Given the description of an element on the screen output the (x, y) to click on. 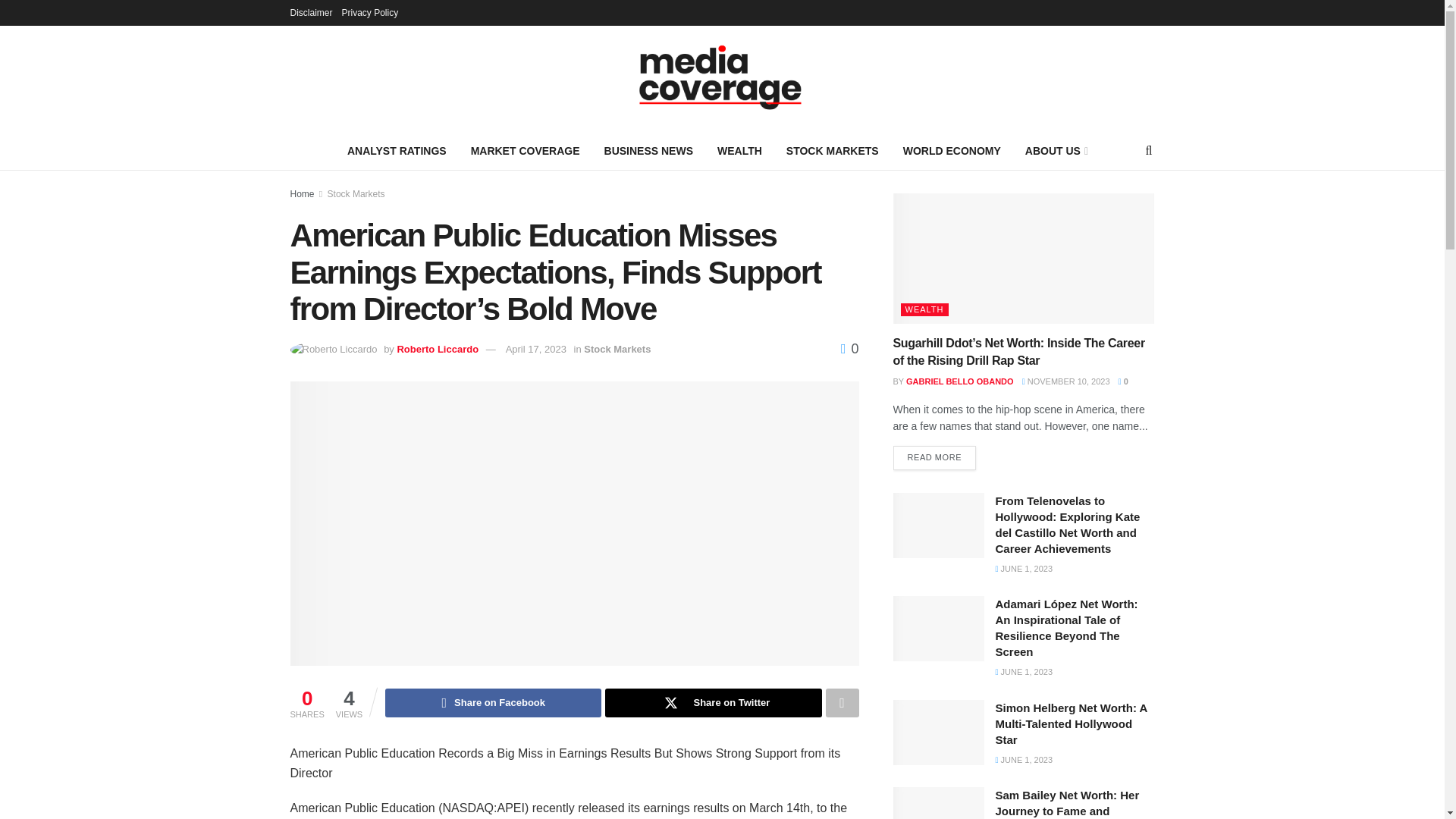
ABOUT US (1055, 150)
BUSINESS NEWS (648, 150)
WEALTH (739, 150)
April 17, 2023 (535, 348)
STOCK MARKETS (832, 150)
ANALYST RATINGS (396, 150)
WORLD ECONOMY (952, 150)
Share on Facebook (493, 702)
Home (301, 194)
Share on Twitter (713, 702)
